Given the description of an element on the screen output the (x, y) to click on. 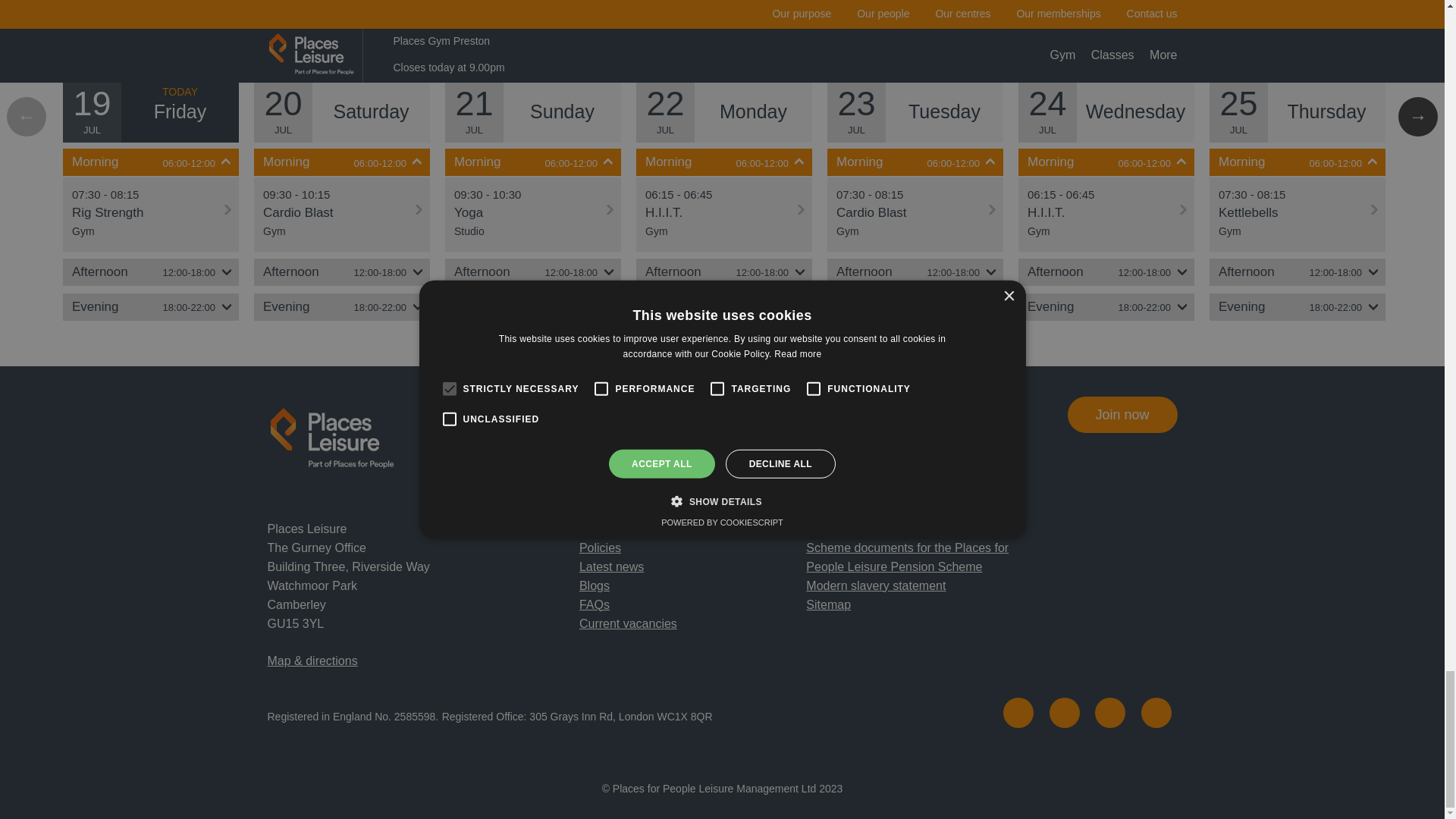
Book a tour (821, 37)
Gym (714, 37)
Classes (614, 37)
